Given the description of an element on the screen output the (x, y) to click on. 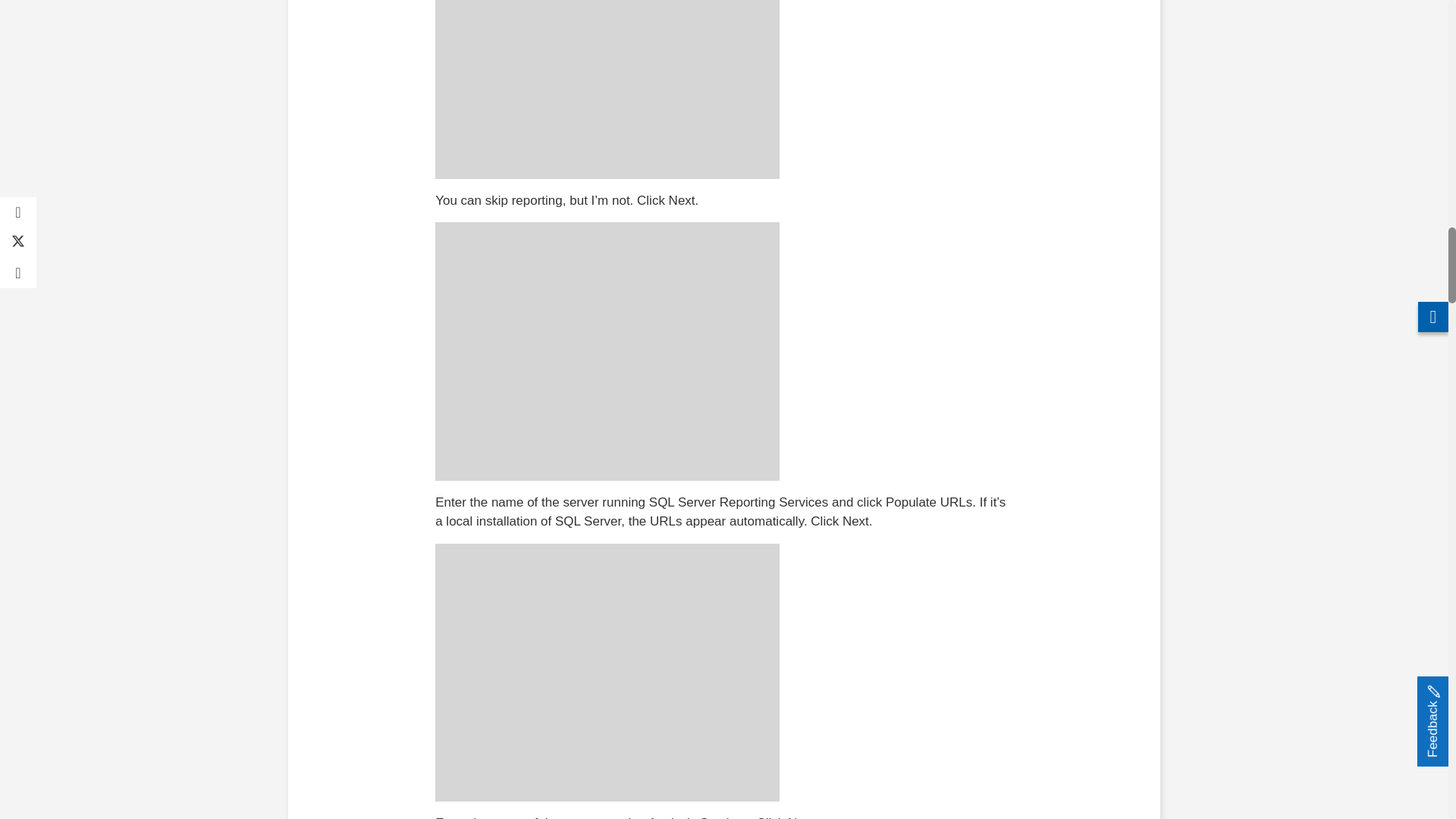
install-adv-008 (606, 672)
install-adv-007 (606, 350)
install-adv-006 (606, 89)
